Given the description of an element on the screen output the (x, y) to click on. 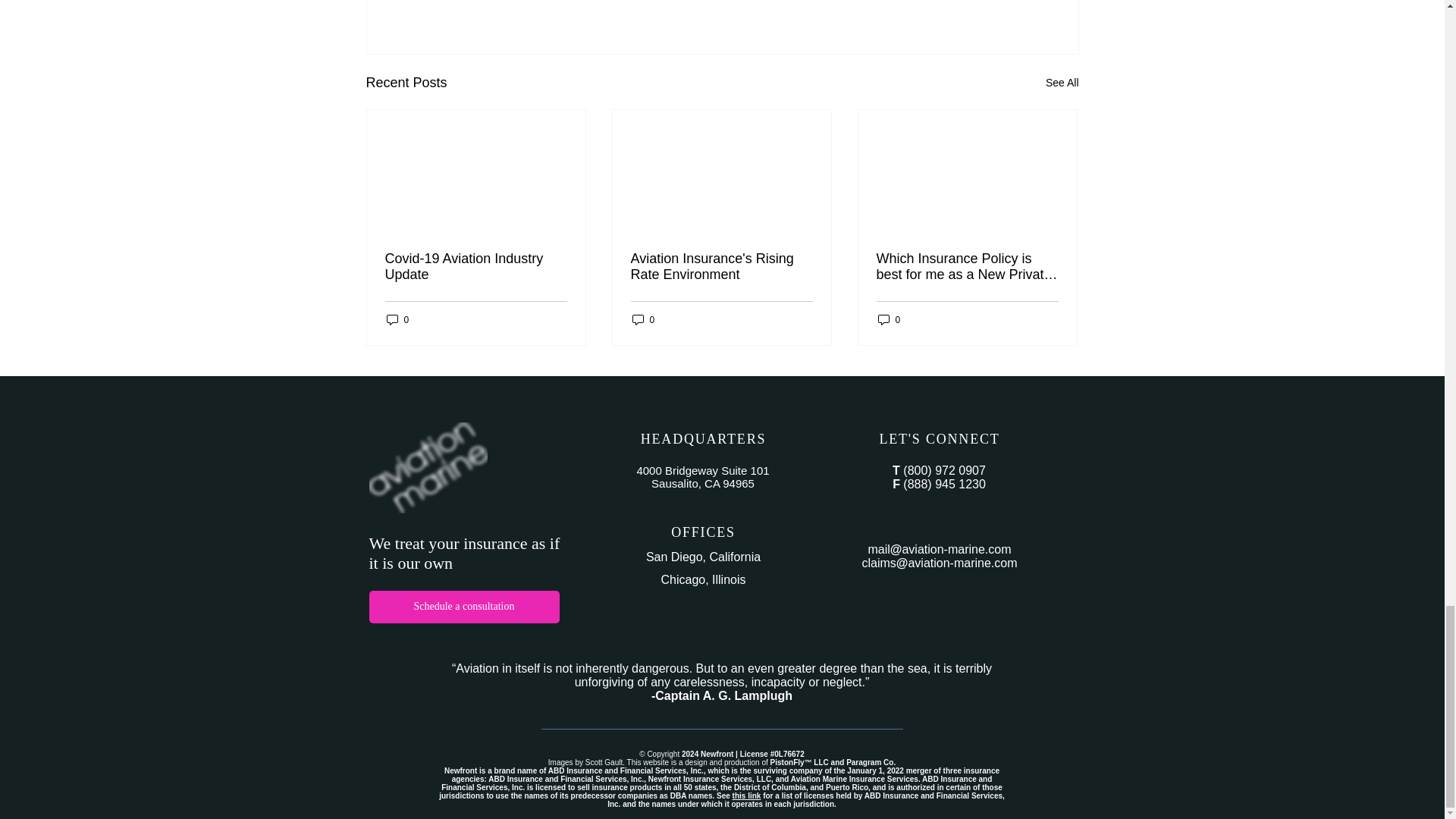
0 (889, 319)
Aviation Insurance's Rising Rate Environment (721, 266)
Schedule a consultation (463, 606)
4000 Bridgeway Suite 101 (702, 470)
Sausalito, CA 94965 (702, 482)
0 (397, 319)
Covid-19 Aviation Industry Update (476, 266)
0 (643, 319)
See All (1061, 83)
